Given the description of an element on the screen output the (x, y) to click on. 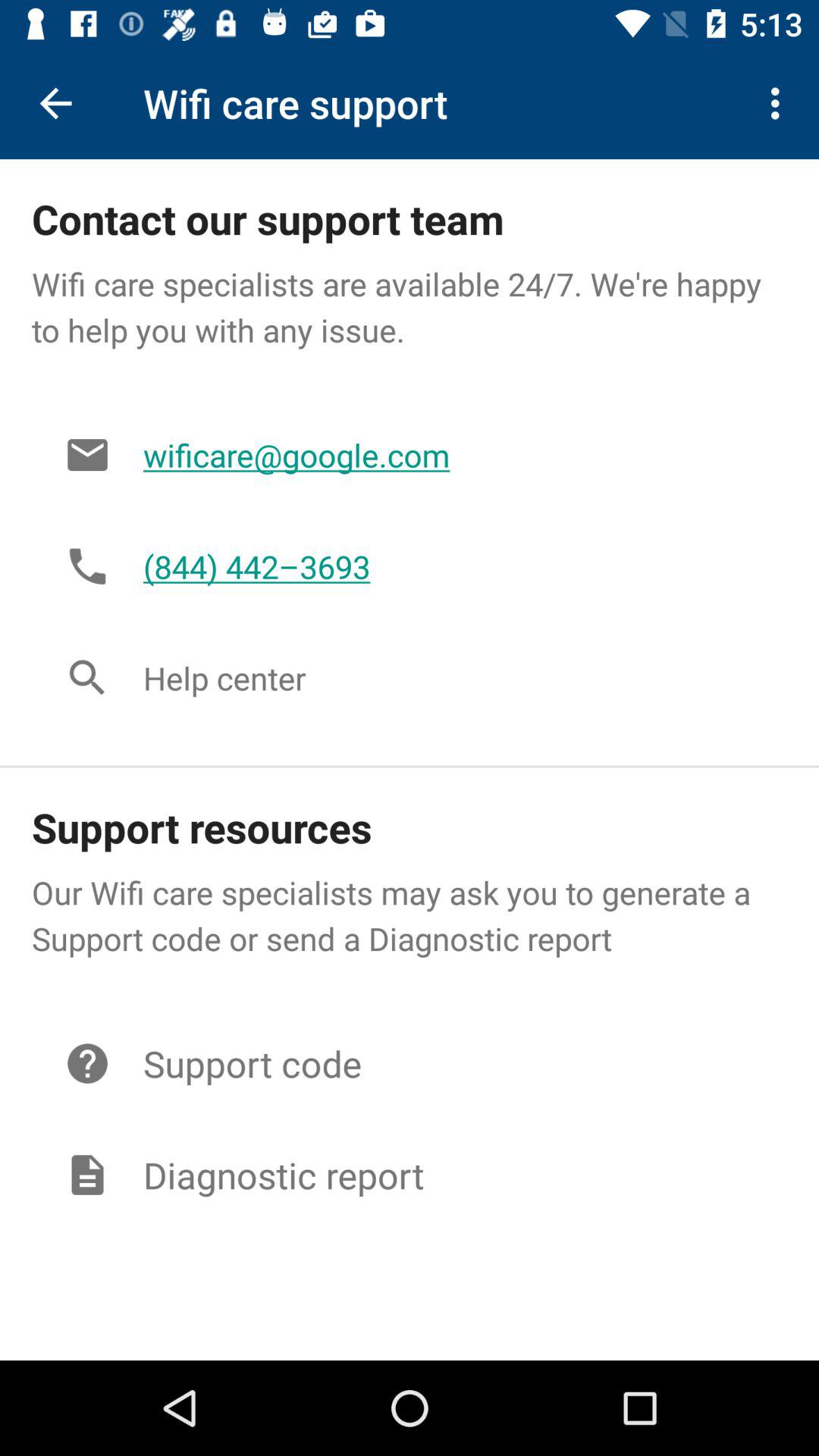
scroll until the help center item (449, 677)
